Given the description of an element on the screen output the (x, y) to click on. 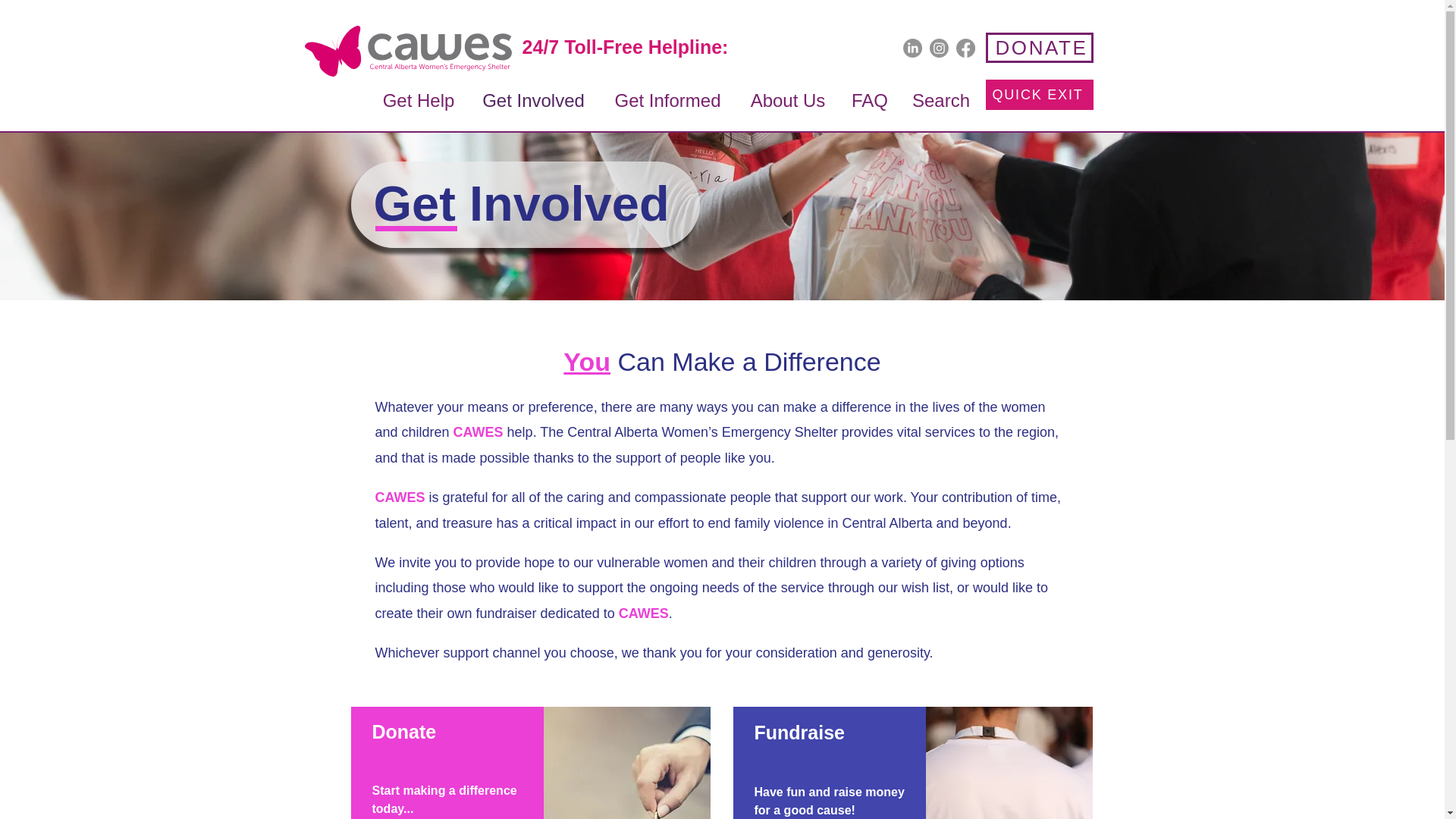
FAQ (869, 97)
Search (940, 97)
Get Involved (532, 97)
Get Informed (666, 97)
QUICK EXIT (1039, 94)
About Us (787, 97)
Get Help (418, 97)
DONATE (1039, 47)
